Given the description of an element on the screen output the (x, y) to click on. 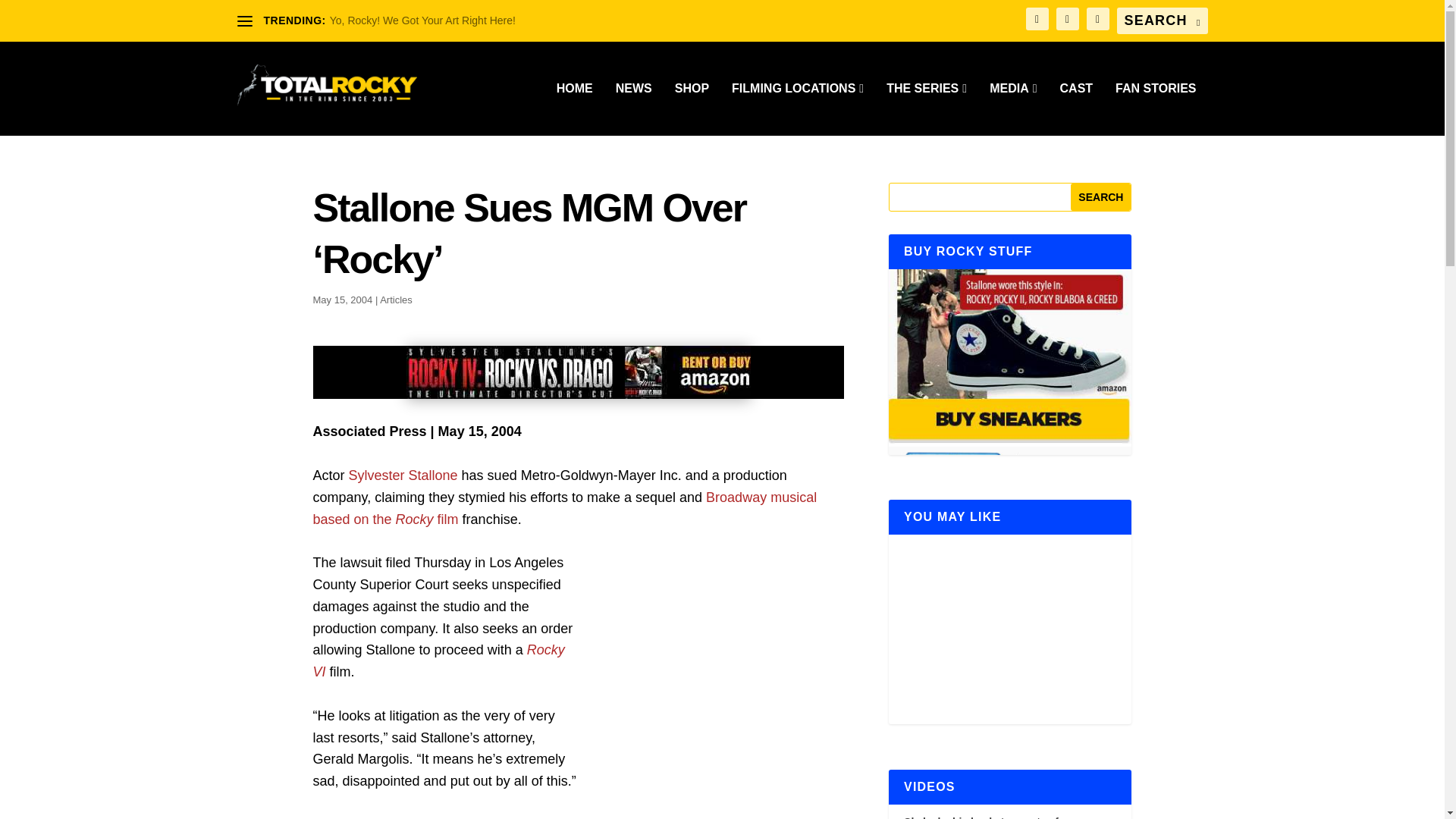
rocky-vs-drago-movie-download (578, 371)
Articles (396, 299)
Yo, Rocky! We Got Your Art Right Here! (422, 20)
Search (1100, 196)
MEDIA (1013, 108)
Buy Creed Movie BluRay DVD (1009, 533)
Rocky VI (438, 660)
FILMING LOCATIONS (797, 108)
NEWS (633, 108)
FAN STORIES (1155, 108)
THE SERIES (926, 108)
Search for: (1161, 20)
SHOP (692, 108)
CAST (1076, 108)
HOME (574, 108)
